Given the description of an element on the screen output the (x, y) to click on. 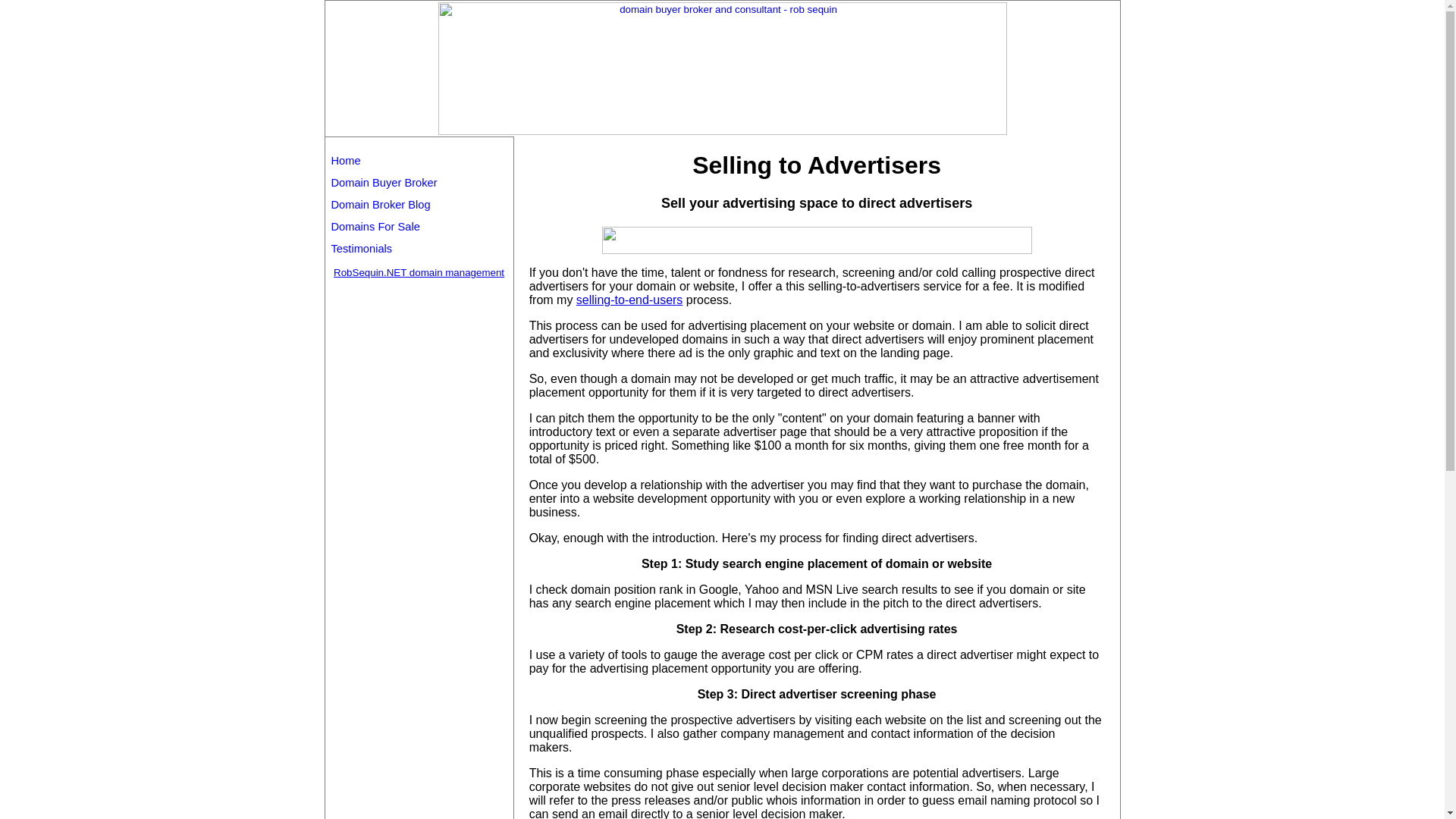
Testimonials (360, 248)
RobSequin.NET domain management (418, 272)
selling-to-end-users (629, 299)
Domain Broker Blog (379, 204)
Home (344, 160)
Domain Registrations and Management (418, 272)
Domain Buyer Broker (383, 182)
Domains For Sale (374, 226)
domain buyer broker and consultant - rob sequin (722, 68)
